Given the description of an element on the screen output the (x, y) to click on. 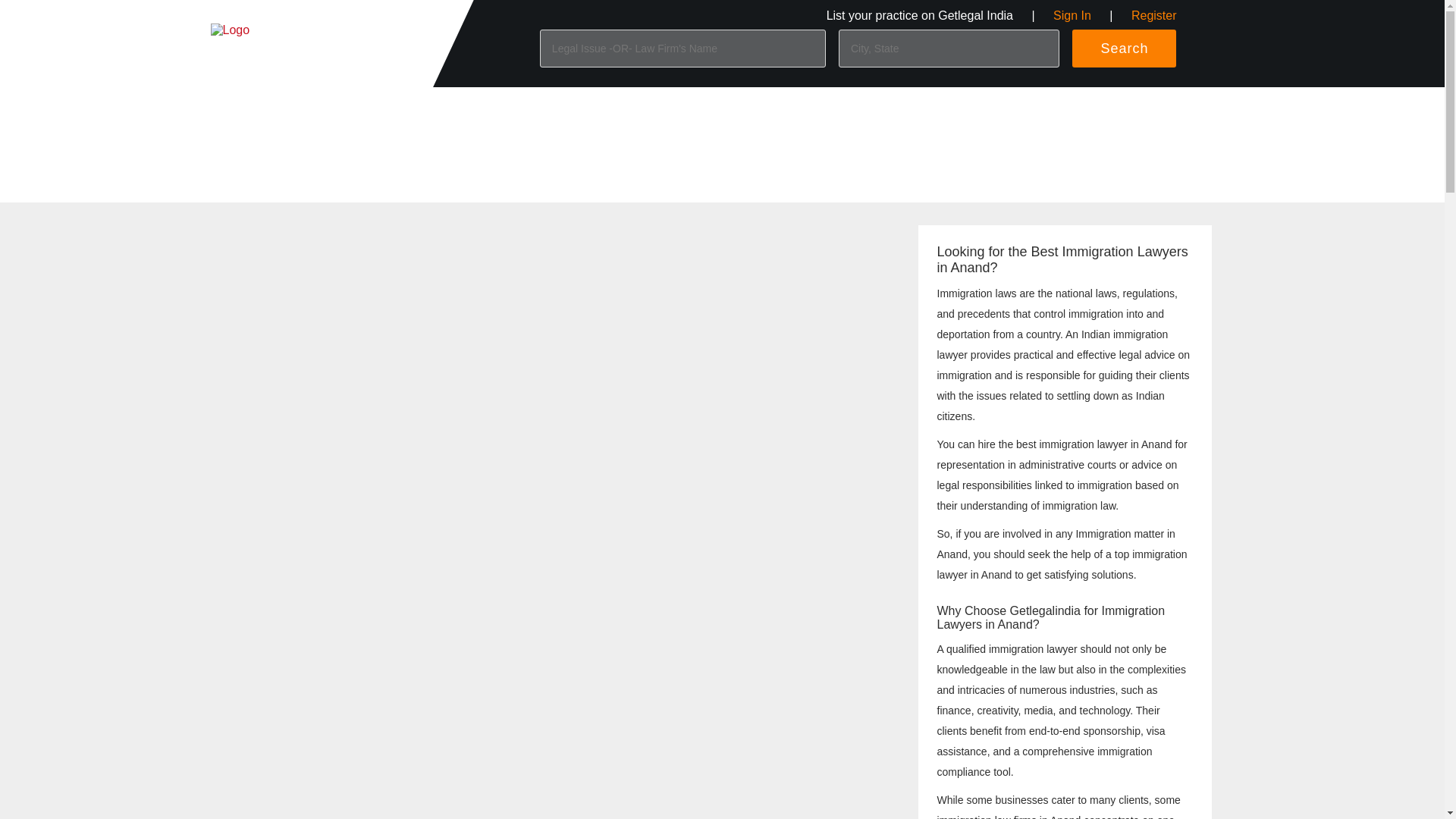
GJ (419, 108)
Anand (460, 108)
Sign In (1071, 15)
Immigration (365, 108)
Register (1153, 15)
Search (1123, 48)
Lawyers Directory (275, 108)
